Given the description of an element on the screen output the (x, y) to click on. 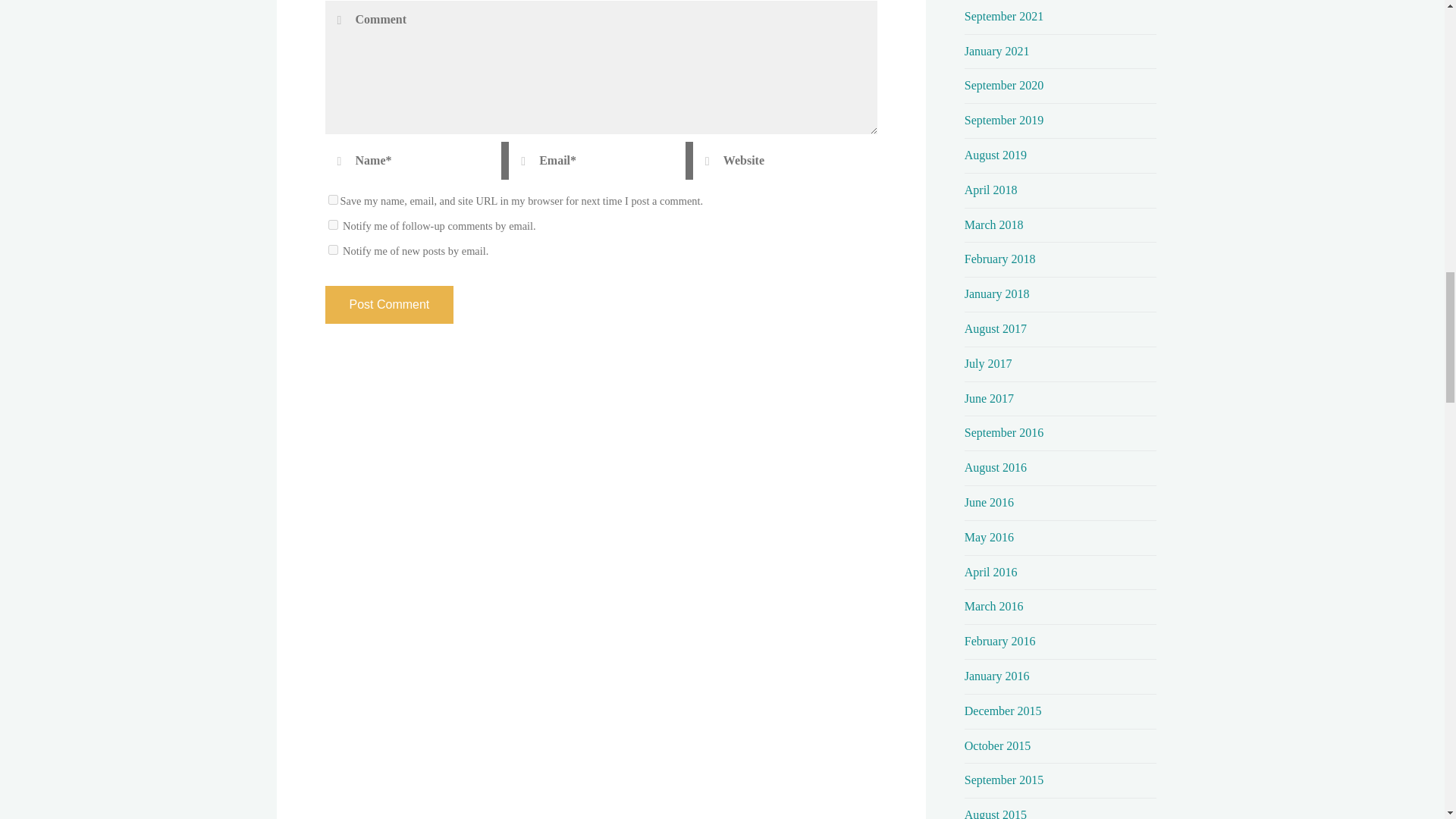
yes (332, 199)
subscribe (332, 249)
Post Comment (388, 304)
subscribe (332, 225)
